Given the description of an element on the screen output the (x, y) to click on. 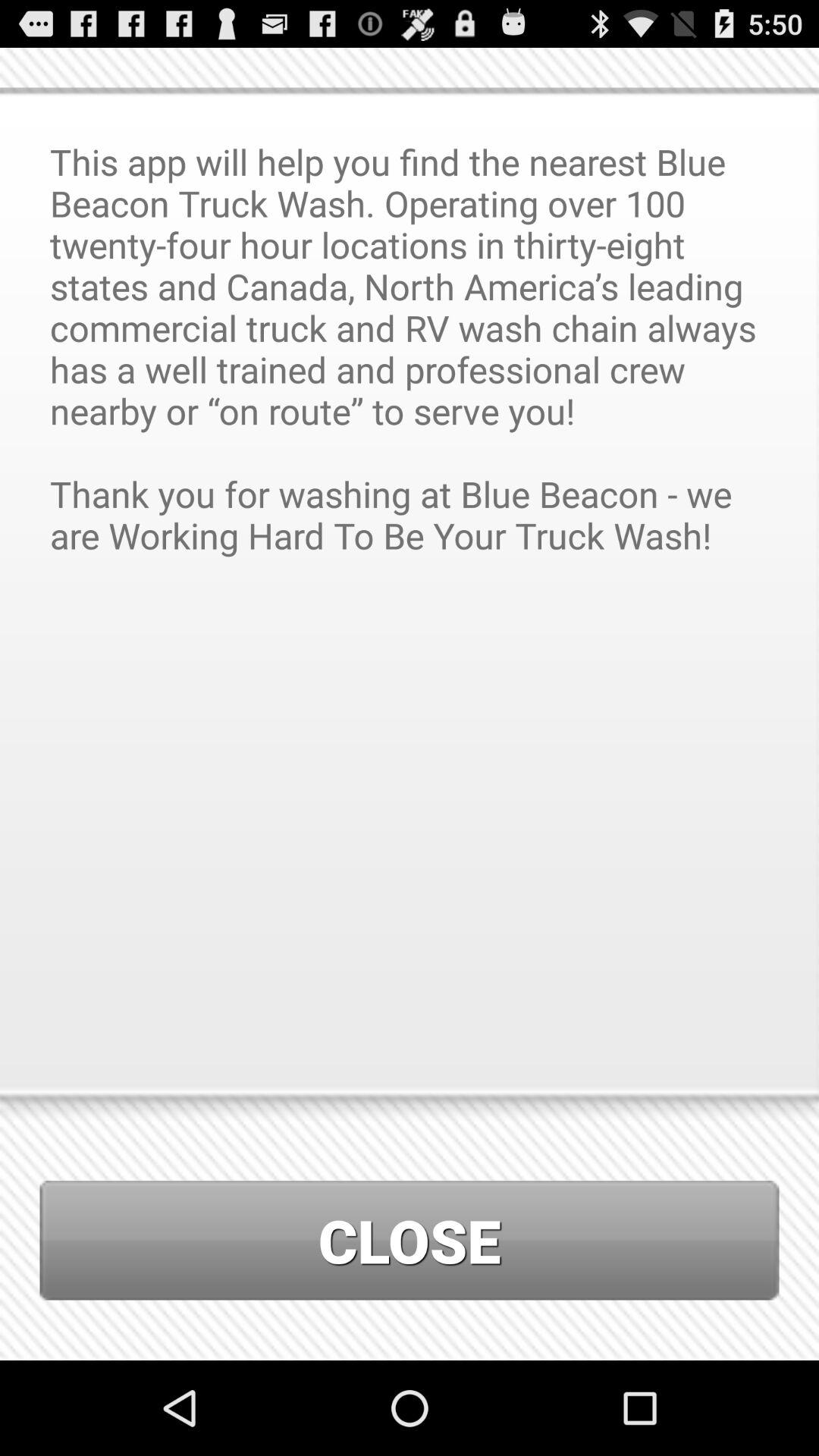
press the item at the bottom (409, 1240)
